Given the description of an element on the screen output the (x, y) to click on. 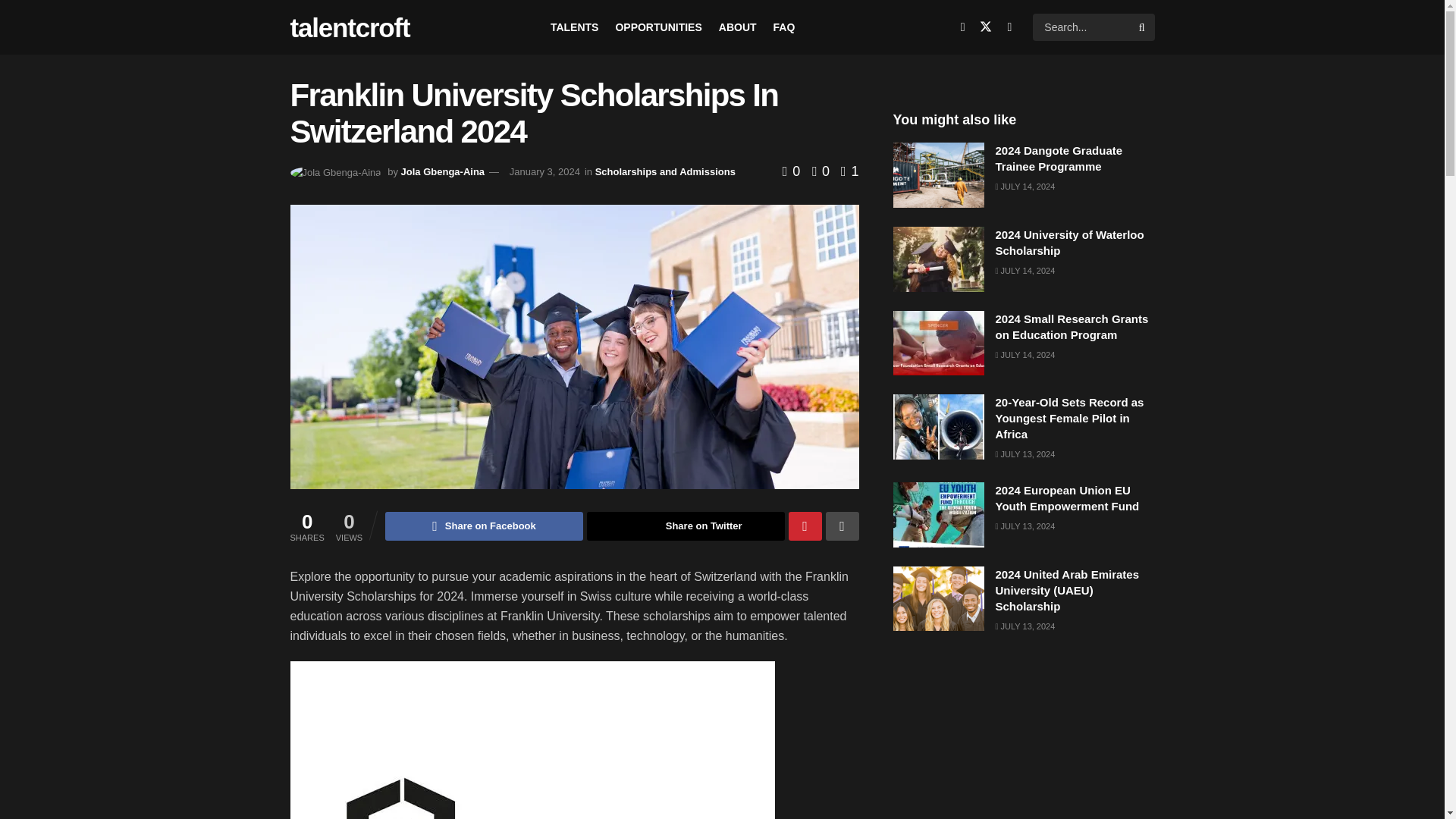
FAQ (783, 27)
Jola Gbenga-Aina (442, 171)
January 3, 2024 (544, 171)
0 (816, 171)
talentcroft (349, 26)
0 (794, 171)
OPPORTUNITIES (657, 27)
ABOUT (738, 27)
Share on Twitter (685, 525)
TALENTS (574, 27)
Share on Facebook (484, 525)
Scholarships and Admissions (665, 171)
1 (850, 171)
